Given the description of an element on the screen output the (x, y) to click on. 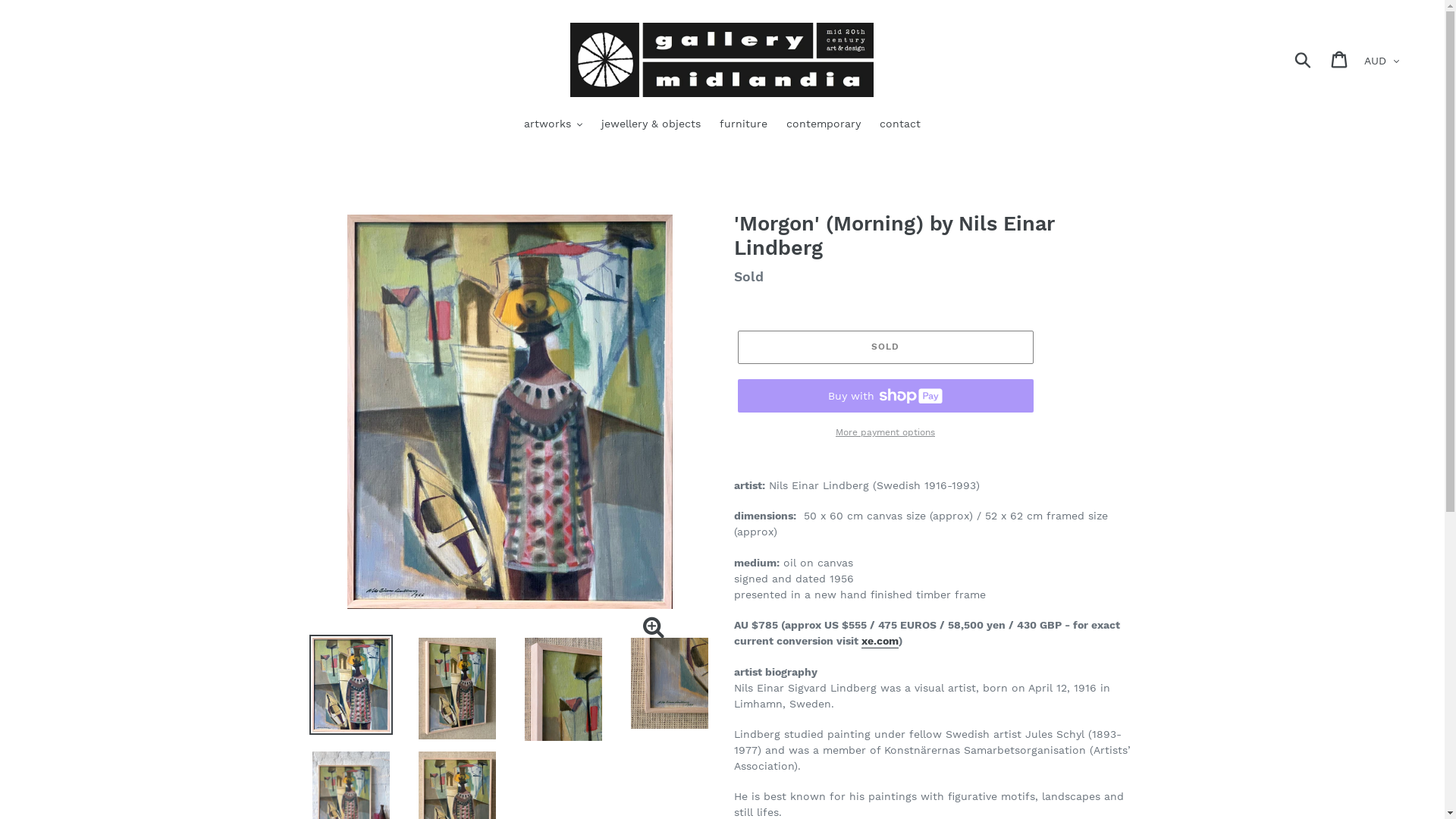
jewellery & objects Element type: text (650, 125)
xe.com Element type: text (879, 641)
contemporary Element type: text (823, 125)
SOLD Element type: text (884, 347)
Cart Element type: text (1340, 59)
contact Element type: text (900, 125)
furniture Element type: text (743, 125)
More payment options Element type: text (884, 431)
Submit Element type: text (1303, 59)
